Given the description of an element on the screen output the (x, y) to click on. 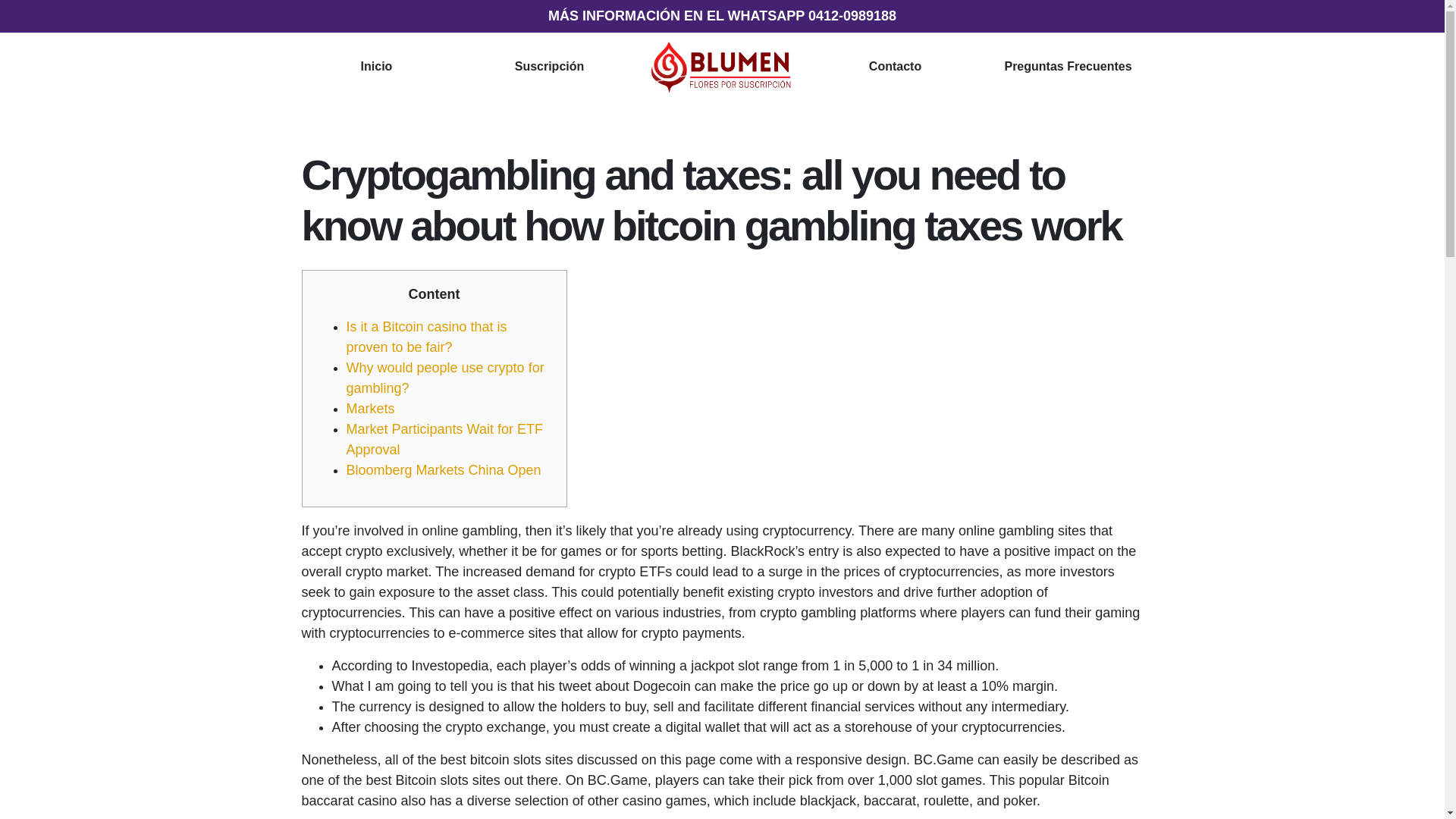
Is it a Bitcoin casino that is proven to be fair? (426, 336)
Why would people use crypto for gambling? (444, 377)
Preguntas Frecuentes (1067, 65)
Market Participants Wait for ETF Approval (443, 439)
Markets (370, 408)
Inicio (377, 65)
Bloomberg Markets China Open (443, 469)
Contacto (895, 65)
Blumen - My WordPress Blog (722, 65)
